Given the description of an element on the screen output the (x, y) to click on. 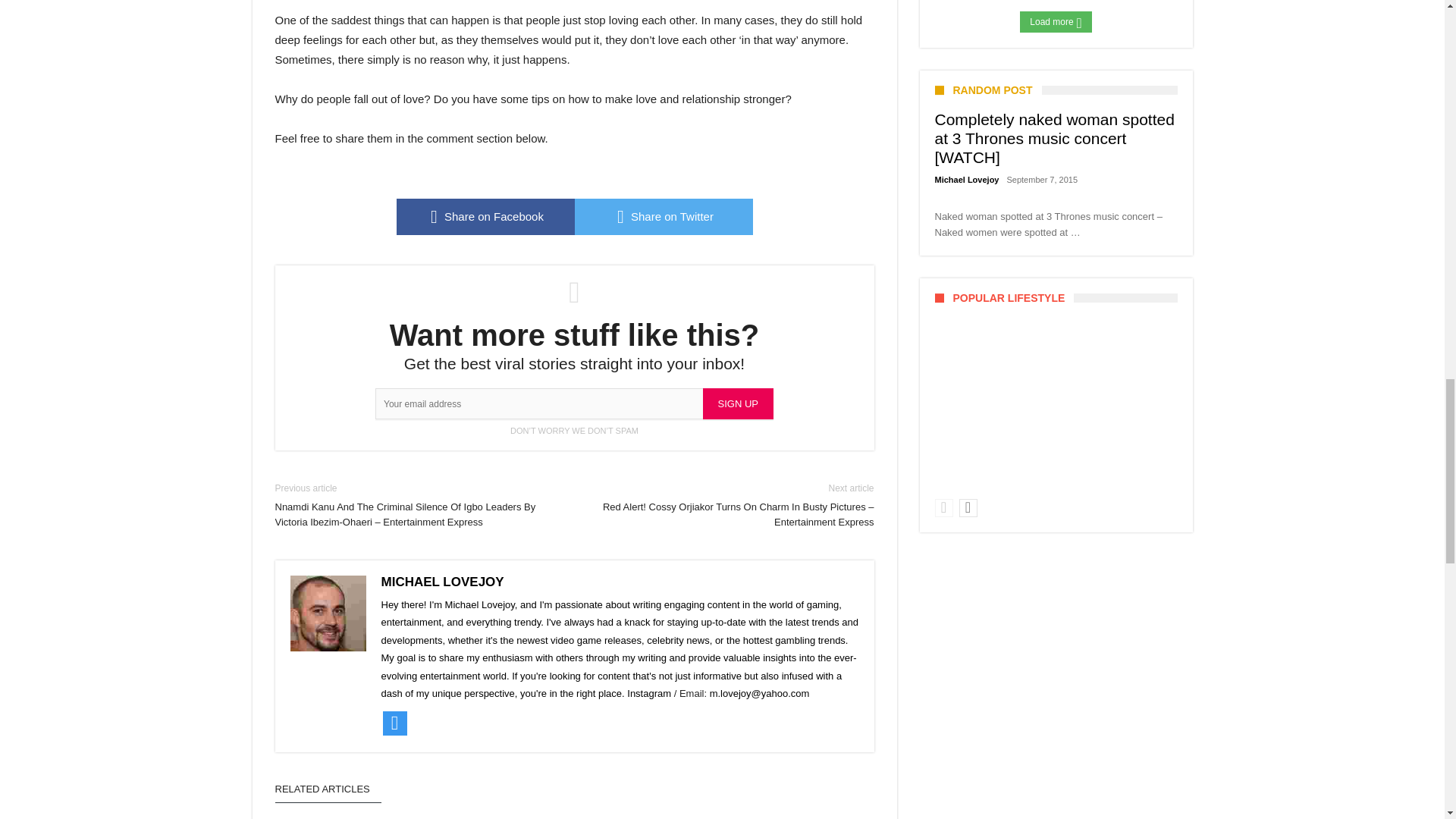
Sign up (738, 403)
Posts by Michael Lovejoy (966, 179)
Share on Facebook (484, 217)
Share on Twitter (663, 217)
twitter (663, 217)
Sign up (738, 403)
MICHAEL LOVEJOY (441, 581)
facebook (484, 217)
